Given the description of an element on the screen output the (x, y) to click on. 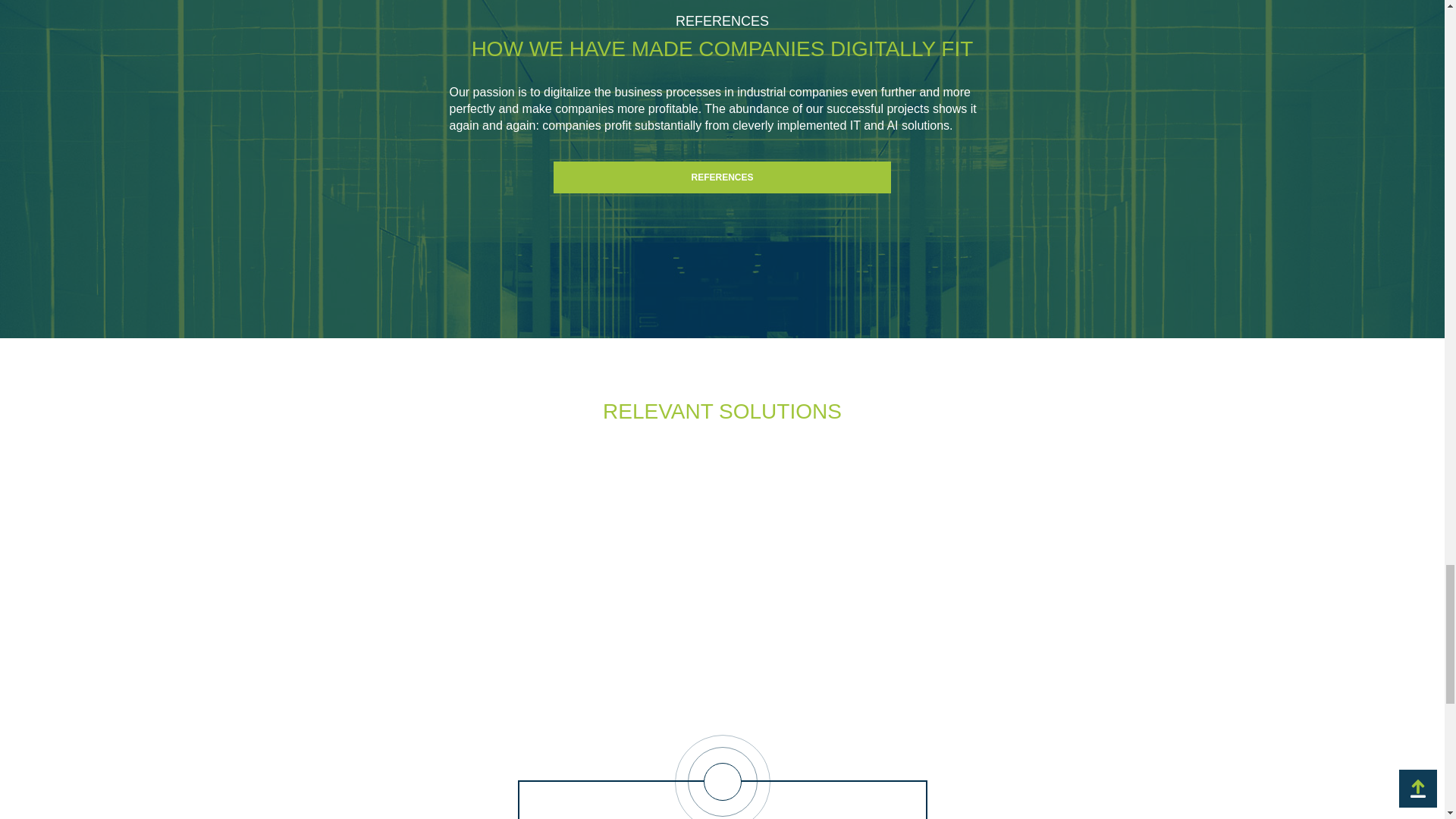
REFERENCES (722, 177)
